Given the description of an element on the screen output the (x, y) to click on. 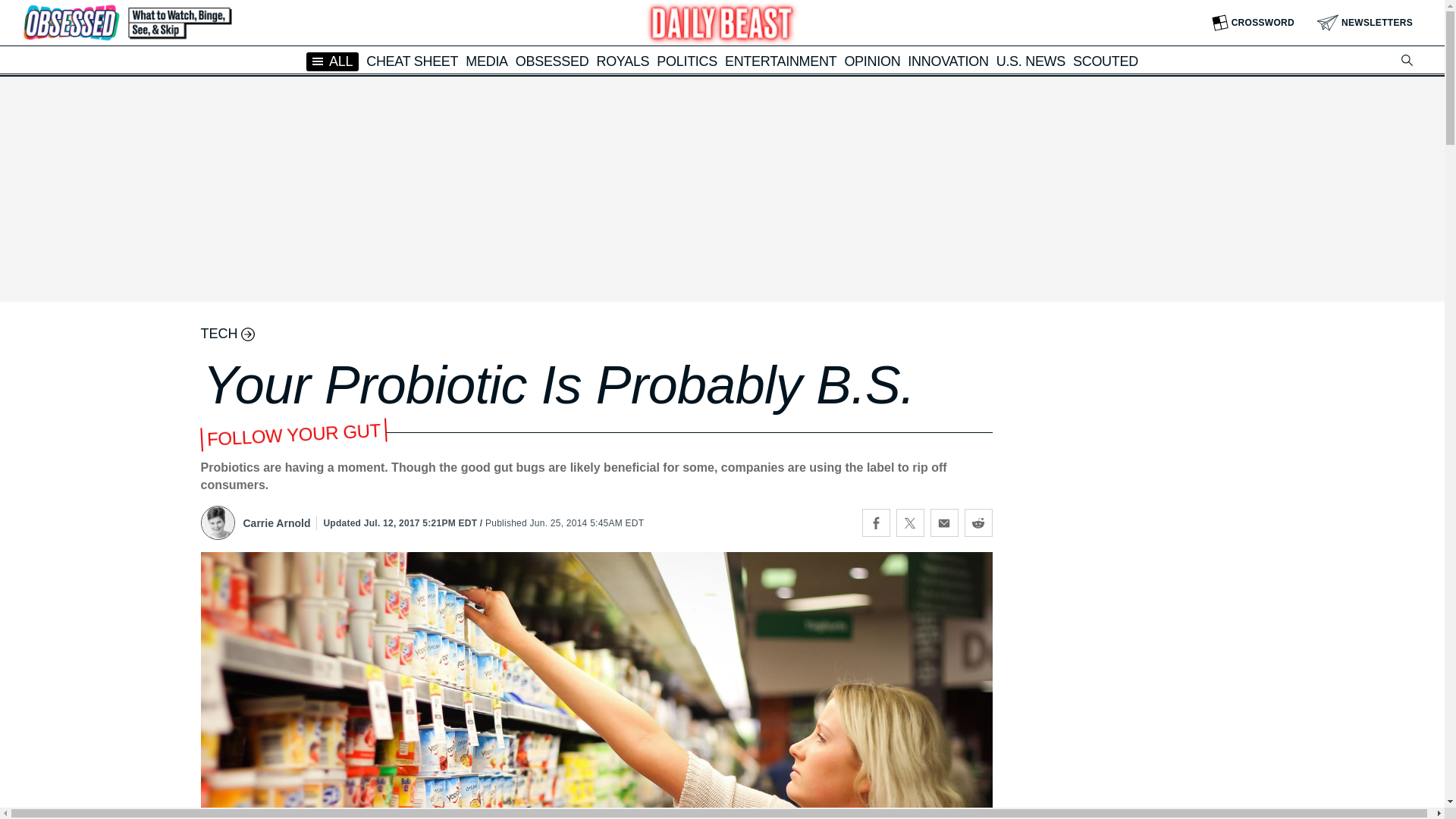
U.S. NEWS (1030, 60)
CROSSWORD (1252, 22)
INNOVATION (947, 60)
ROYALS (622, 60)
ENTERTAINMENT (780, 60)
OBSESSED (552, 60)
ALL (331, 60)
MEDIA (486, 60)
POLITICS (686, 60)
SCOUTED (1105, 60)
